Given the description of an element on the screen output the (x, y) to click on. 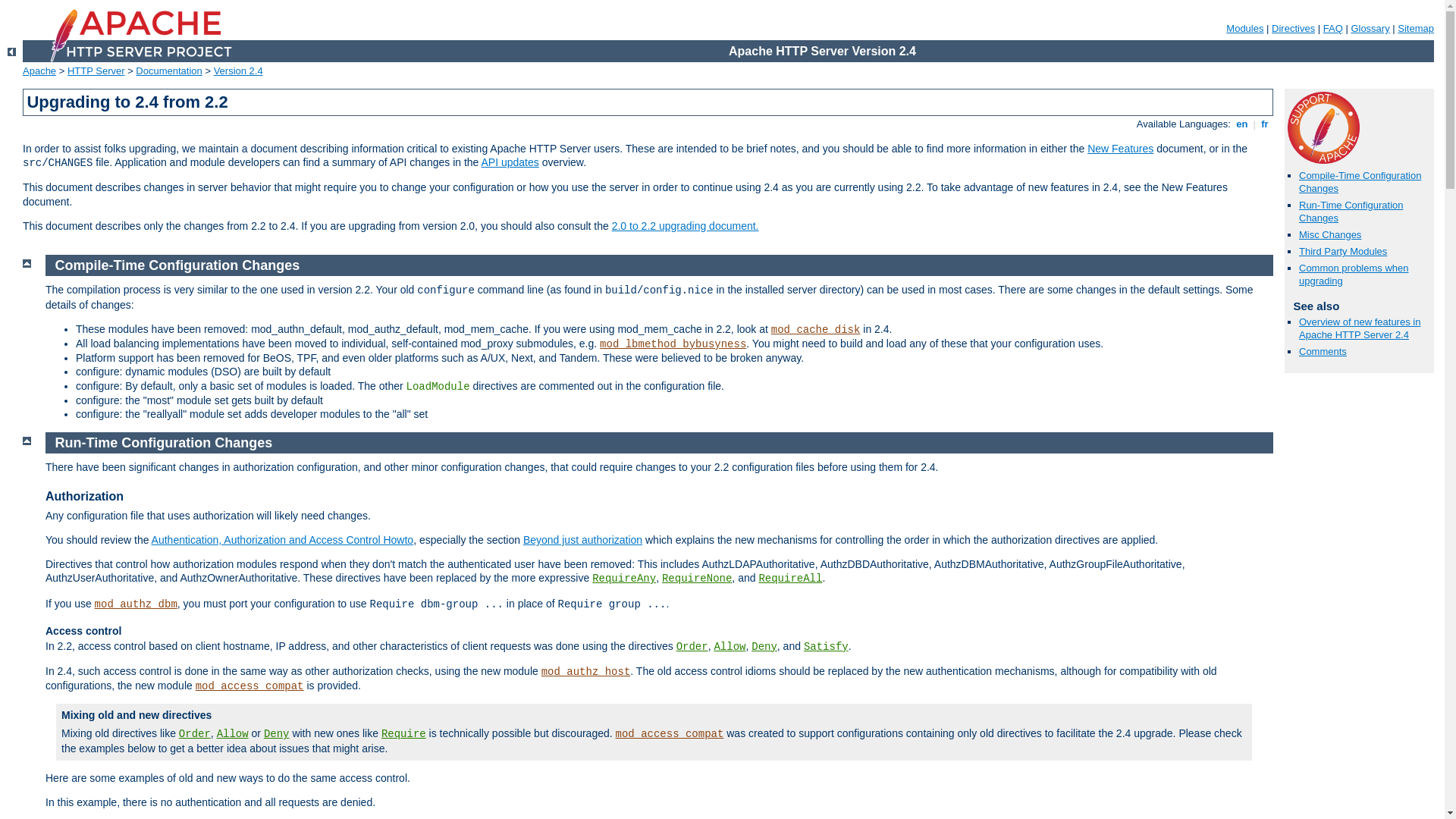
Run-Time Configuration Changes Element type: text (164, 442)
Allow Element type: text (232, 734)
mod_access_compat Element type: text (669, 734)
Modules Element type: text (1244, 28)
Third Party Modules Element type: text (1342, 251)
New Features Element type: text (1120, 148)
RequireNone Element type: text (696, 578)
Compile-Time Configuration Changes Element type: text (1360, 181)
Satisfy Element type: text (825, 646)
Require Element type: text (403, 734)
 en  Element type: text (1241, 123)
mod_access_compat Element type: text (249, 686)
Access control Element type: text (83, 630)
mod_authz_host Element type: text (585, 671)
2.0 to 2.2 upgrading document. Element type: text (685, 225)
Glossary Element type: text (1369, 28)
RequireAny Element type: text (623, 578)
Order Element type: text (194, 734)
<- Element type: hover (11, 51)
Version 2.4 Element type: text (238, 70)
HTTP Server Element type: text (96, 70)
Overview of new features in Apache HTTP Server 2.4 Element type: text (1359, 328)
Directives Element type: text (1292, 28)
Authentication, Authorization and Access Control Howto Element type: text (282, 539)
Deny Element type: text (276, 734)
 fr  Element type: text (1264, 123)
Authorization Element type: text (84, 495)
Beyond just authorization Element type: text (582, 539)
Misc Changes Element type: text (1330, 234)
Run-Time Configuration Changes Element type: text (1351, 211)
Deny Element type: text (764, 646)
Apache Element type: text (39, 70)
Order Element type: text (692, 646)
mod_lbmethod_bybusyness Element type: text (672, 344)
mod_cache_disk Element type: text (815, 329)
Compile-Time Configuration Changes Element type: text (177, 265)
Sitemap Element type: text (1415, 28)
API updates Element type: text (510, 162)
Comments Element type: text (1322, 351)
Allow Element type: text (729, 646)
Common problems when upgrading Element type: text (1353, 274)
mod_authz_dbm Element type: text (135, 604)
Documentation Element type: text (168, 70)
RequireAll Element type: text (790, 578)
FAQ Element type: text (1333, 28)
